Given the description of an element on the screen output the (x, y) to click on. 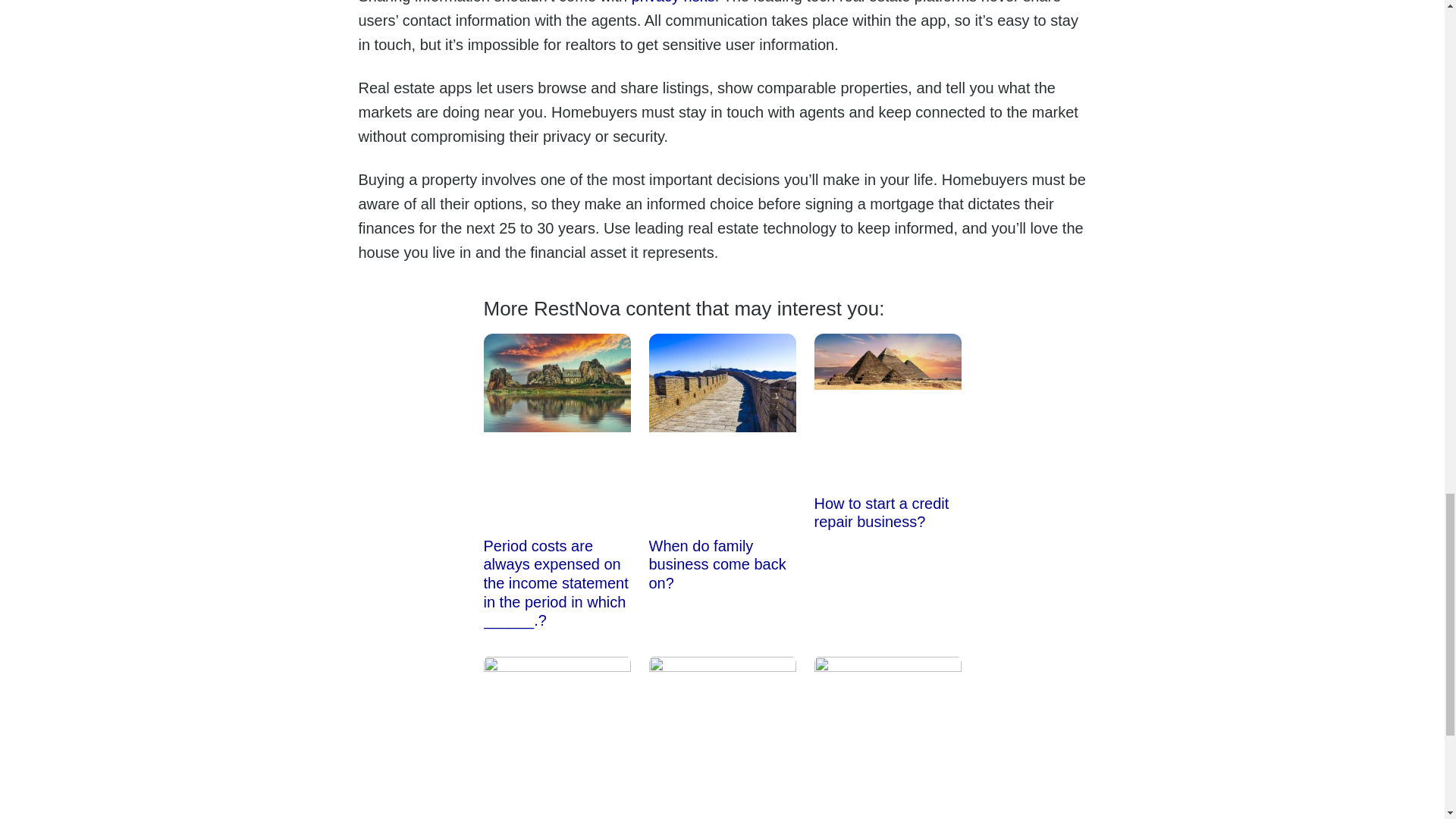
When do family business come back on? (717, 564)
How to start a credit repair business? (881, 512)
privacy risks (672, 2)
